Given the description of an element on the screen output the (x, y) to click on. 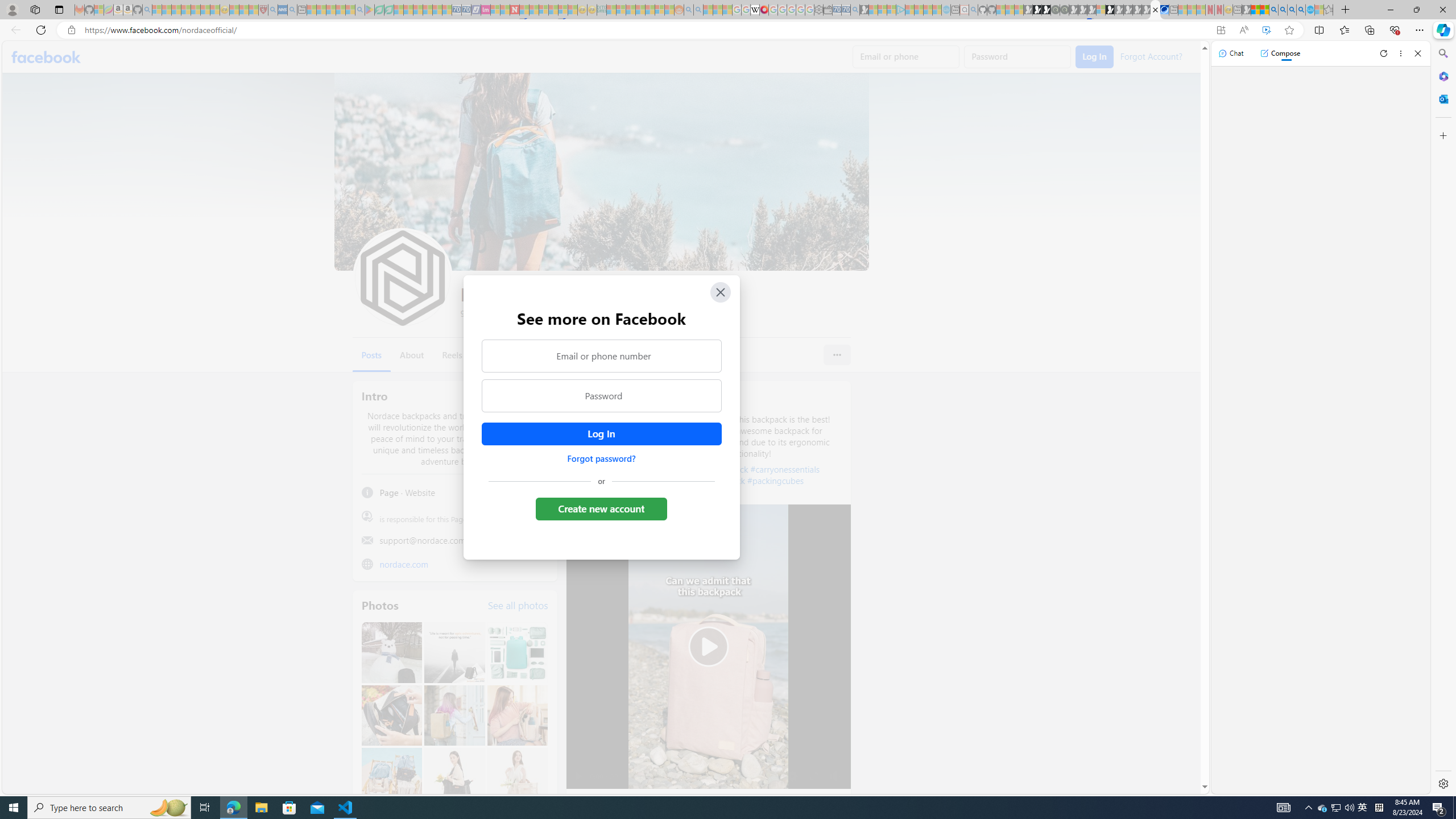
MSN - Sleeping (1246, 9)
Create new account (601, 508)
